Given the description of an element on the screen output the (x, y) to click on. 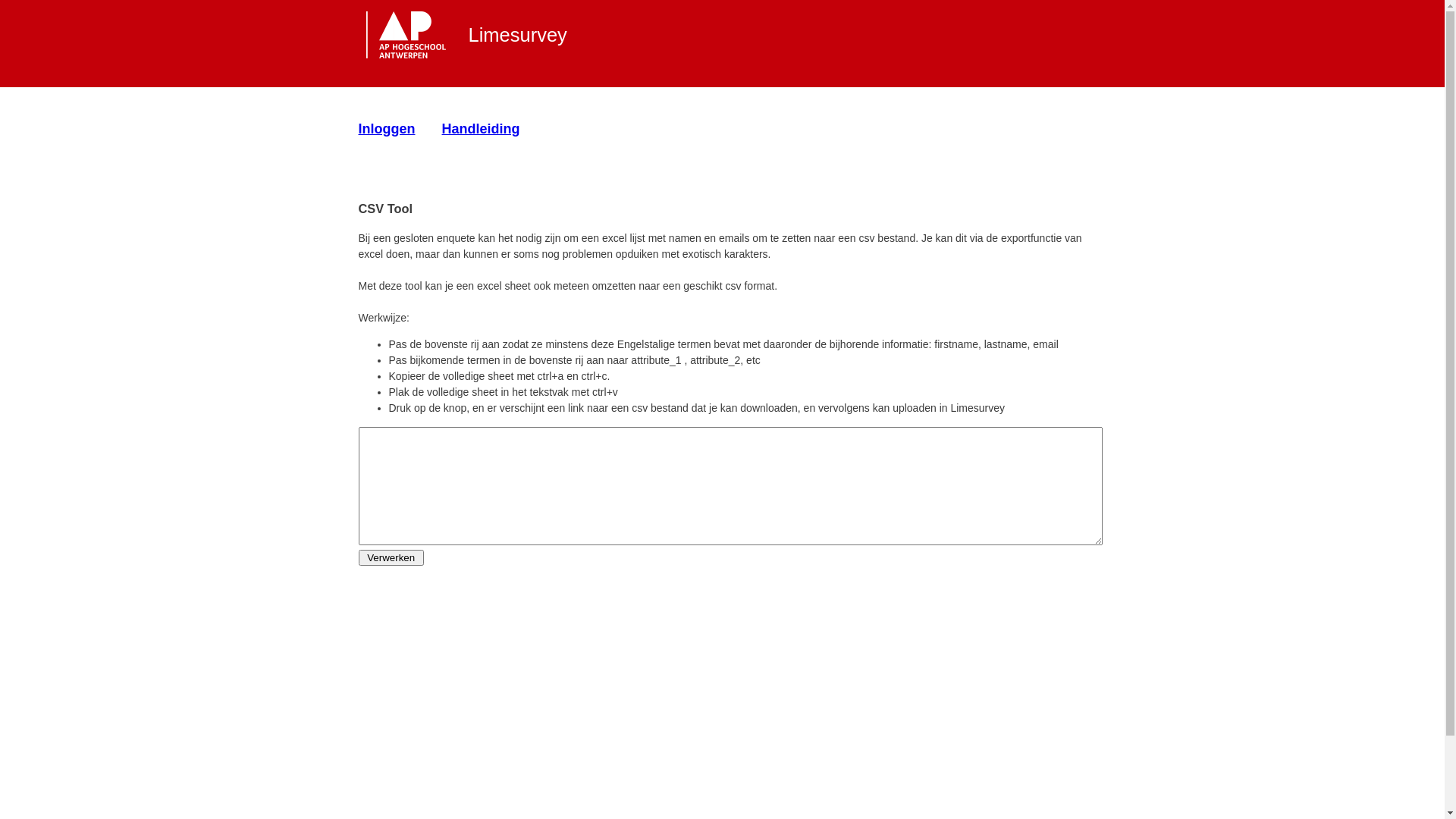
Limesurvey Element type: text (517, 34)
Handleiding Element type: text (481, 128)
Inloggen Element type: text (385, 128)
 Verwerken  Element type: text (390, 557)
Home Element type: hover (406, 37)
